Given the description of an element on the screen output the (x, y) to click on. 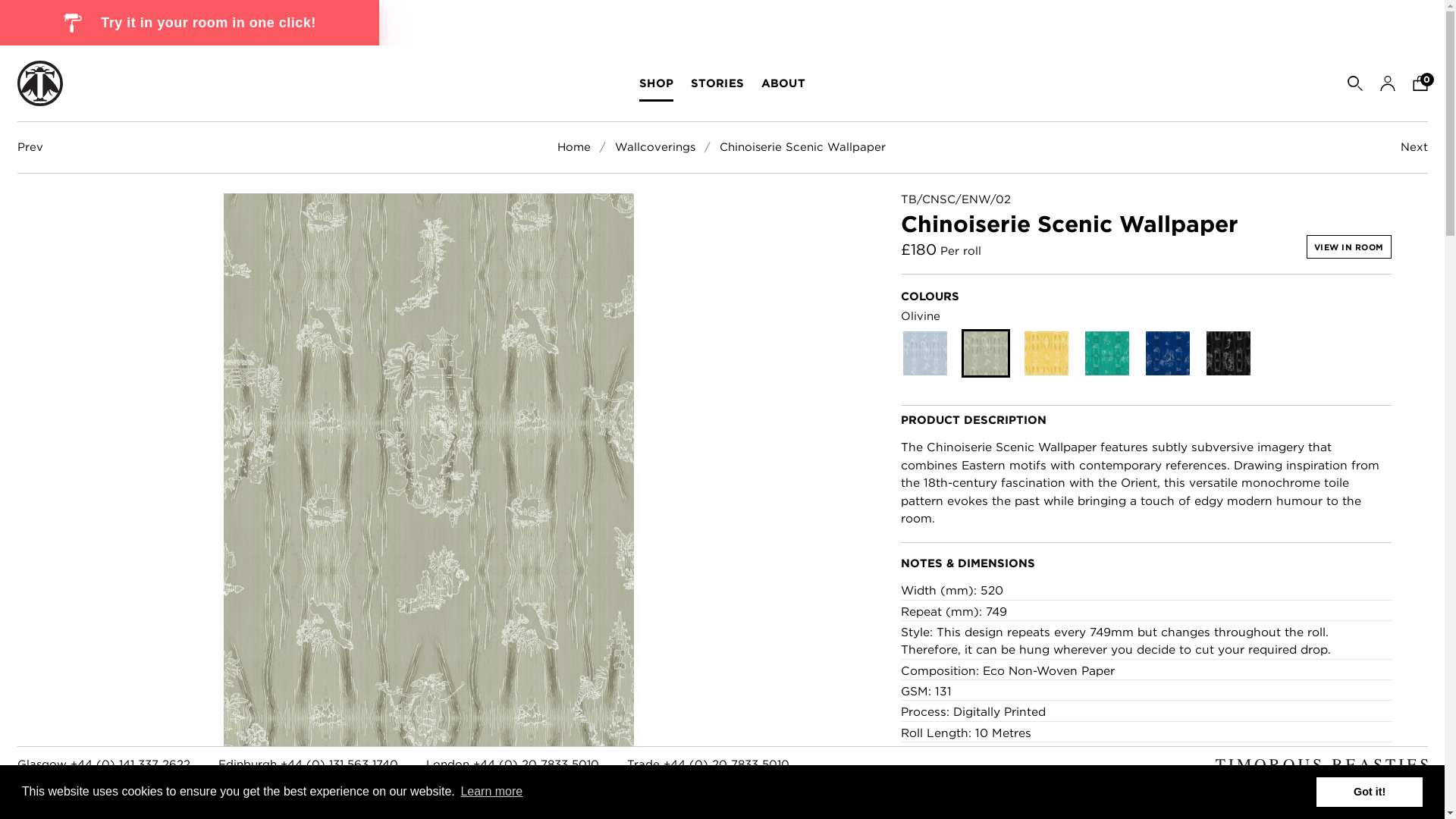
SHOP (655, 83)
Learn more (487, 796)
Got it! (1369, 795)
STORIES (717, 83)
ABOUT (783, 83)
,, (71, 22)
0 (1419, 83)
